Given the description of an element on the screen output the (x, y) to click on. 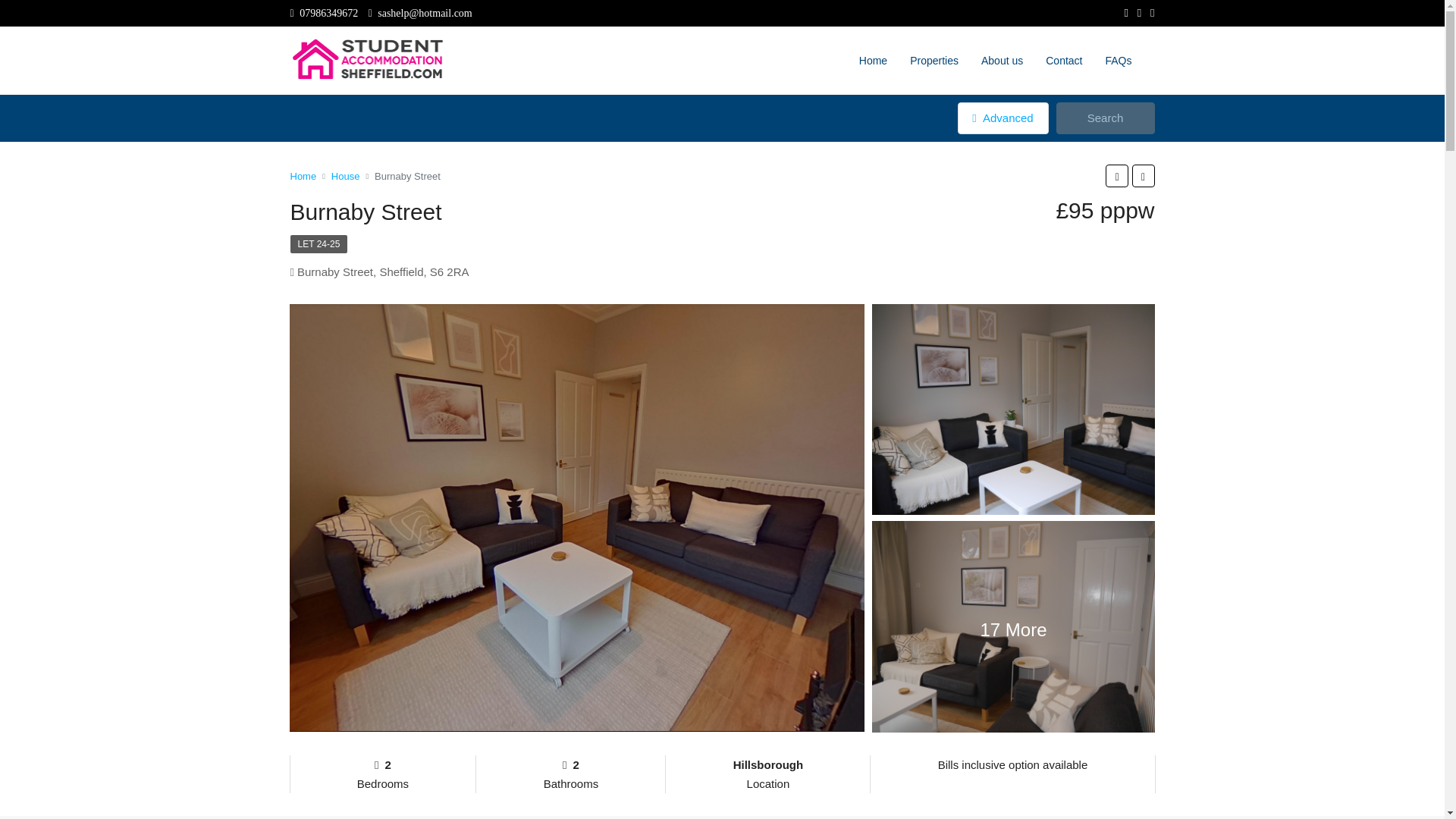
LET 24-25 (318, 244)
Search (1104, 118)
07986349672 (323, 12)
Advanced (1002, 118)
About us (1001, 60)
Home (302, 176)
Properties (933, 60)
House (345, 176)
